Given the description of an element on the screen output the (x, y) to click on. 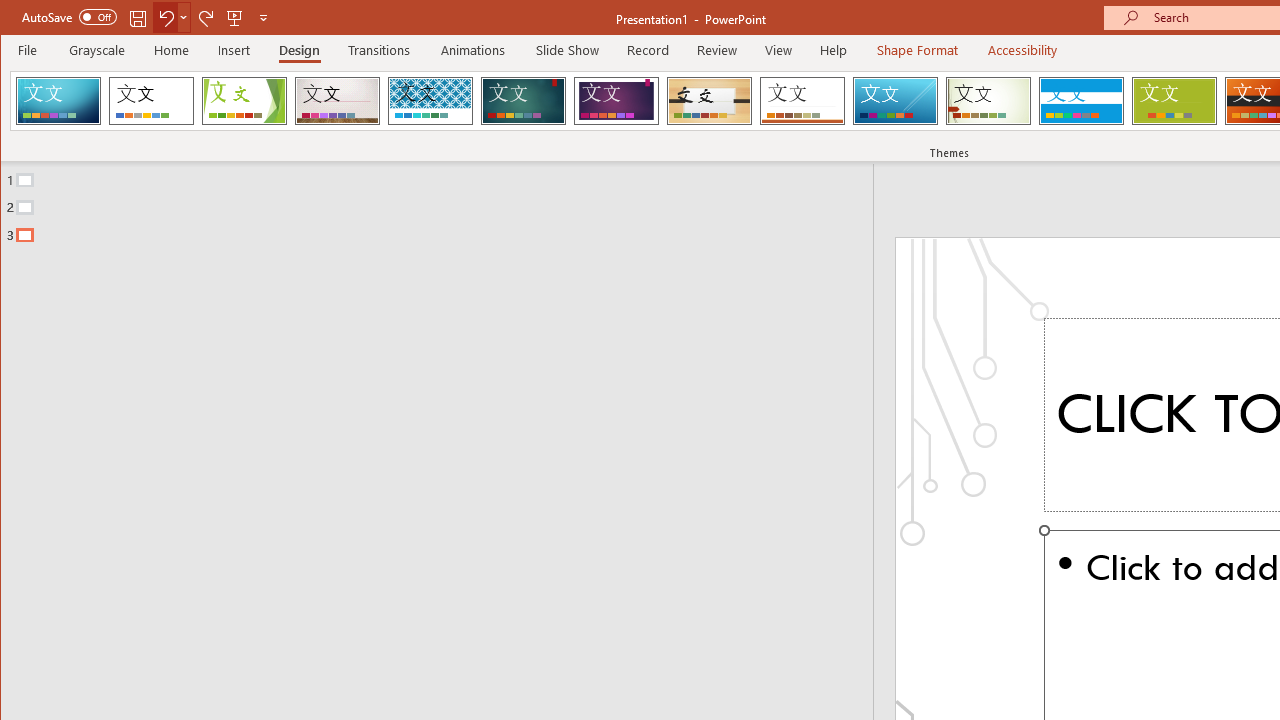
Gallery (337, 100)
Organic (709, 100)
Ion (523, 100)
Office Theme (151, 100)
Dividend (57, 100)
Banded (1081, 100)
